Given the description of an element on the screen output the (x, y) to click on. 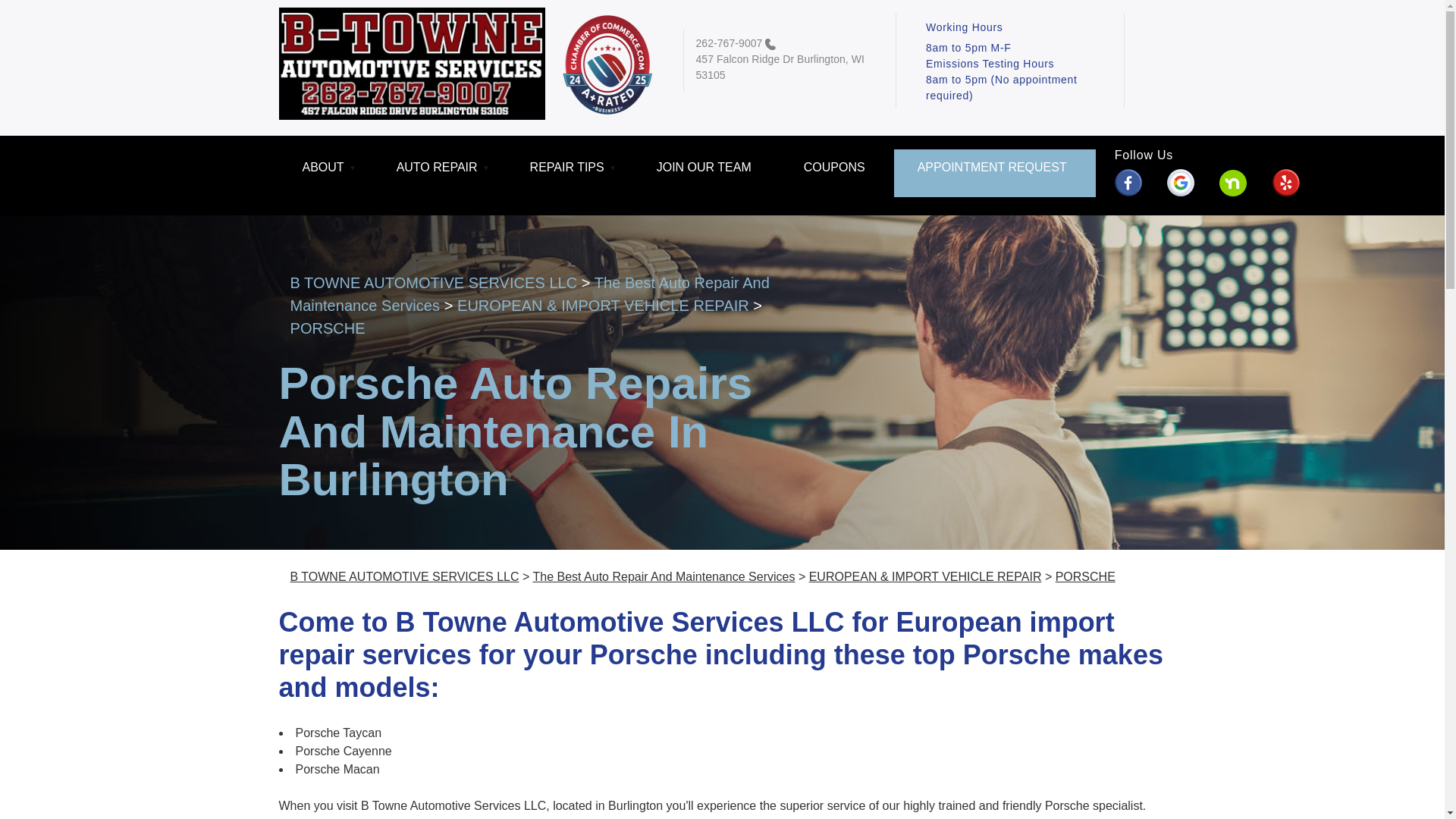
AUTO REPAIR (439, 173)
ABOUT (325, 173)
COUPONS (836, 173)
APPOINTMENT REQUEST (994, 173)
JOIN OUR TEAM (706, 173)
262-767-9007 (728, 42)
REPAIR TIPS (569, 173)
